Given the description of an element on the screen output the (x, y) to click on. 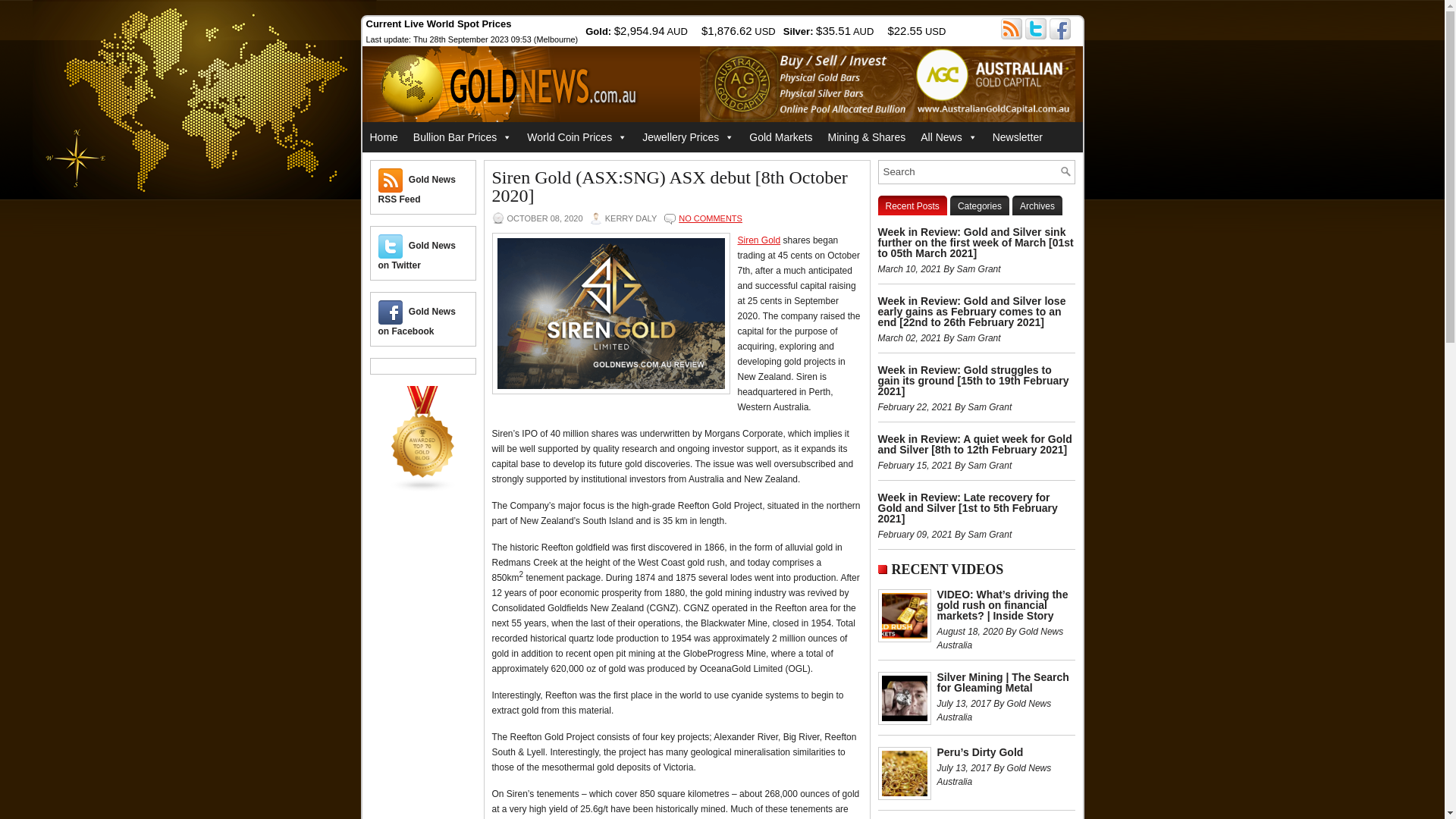
Gold News Australia Element type: hover (514, 87)
Mining & Shares Element type: text (866, 137)
World Coin Prices Element type: text (576, 137)
Newsletter Element type: text (1017, 137)
Gold News RSS Feed Element type: hover (389, 180)
Bullion Bar Prices Element type: text (462, 137)
Gold News on Twitter Element type: hover (389, 246)
Categories Element type: text (979, 205)
Gold Markets Element type: text (780, 137)
Gold News on Facebook Element type: text (416, 321)
Gold blogs Element type: hover (423, 488)
Silver Mining | The Search for Gleaming Metal Element type: text (1003, 682)
Jewellery Prices Element type: text (687, 137)
Gold News RSS Feed Element type: text (416, 189)
Subscribe to the Gold News RSS Feed Element type: hover (1011, 28)
Like & follow Gold News on Facebook Element type: hover (1060, 28)
Search Element type: hover (1064, 171)
All News Element type: text (948, 137)
Recent Posts Element type: text (912, 205)
Archives Element type: text (1037, 205)
Gold News on Facebook Element type: hover (389, 312)
NO COMMENTS Element type: text (710, 217)
Siren Gold Element type: text (758, 240)
Gold News on Twitter Element type: text (416, 255)
Home Element type: text (383, 137)
Follow Gold News on Twitter Element type: hover (1035, 28)
